Given the description of an element on the screen output the (x, y) to click on. 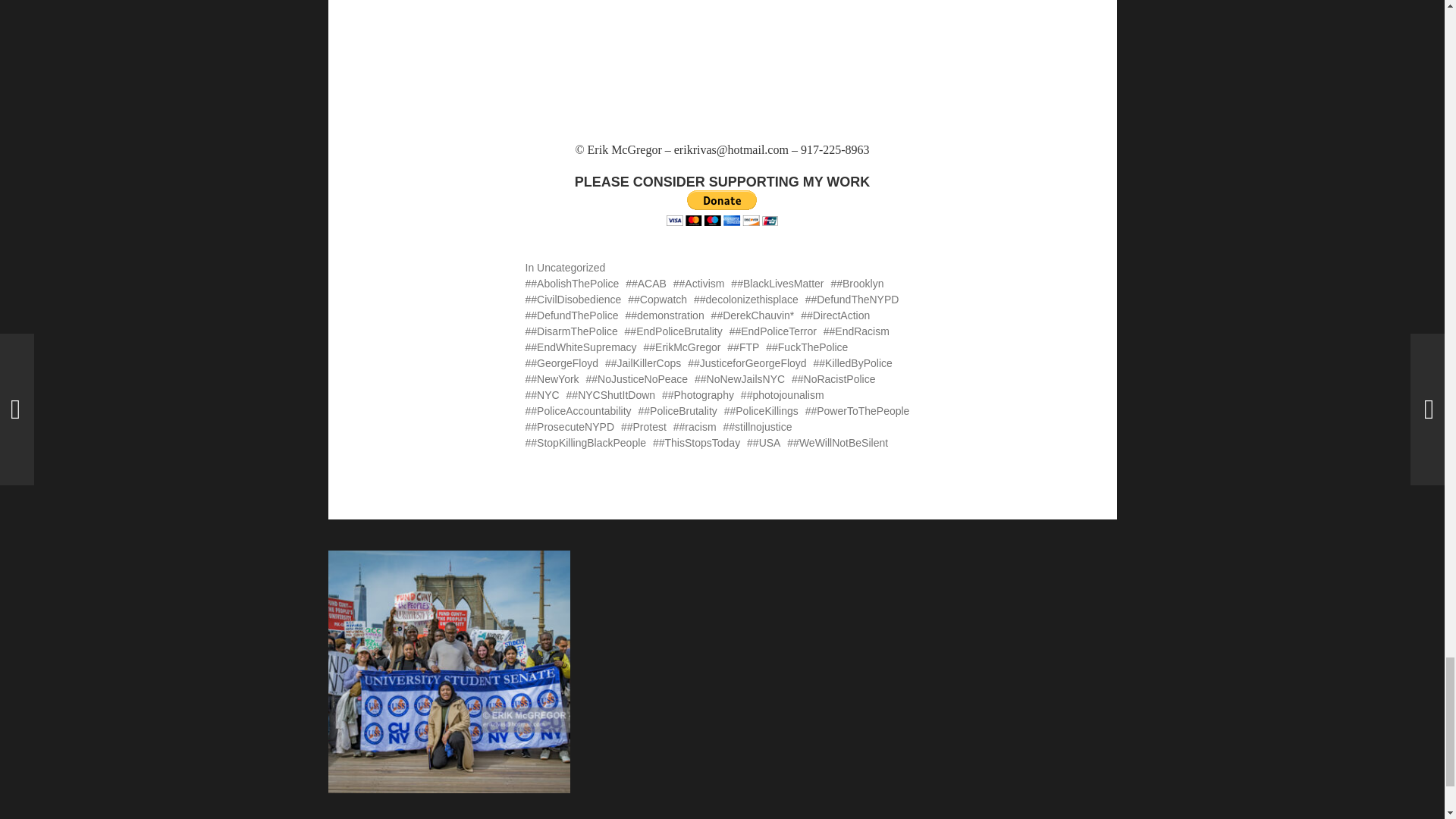
PayPal - The safer, easier way to pay online! (721, 208)
Justice For George Floyd march in Brooklyn (721, 70)
Uncategorized (571, 267)
